Given the description of an element on the screen output the (x, y) to click on. 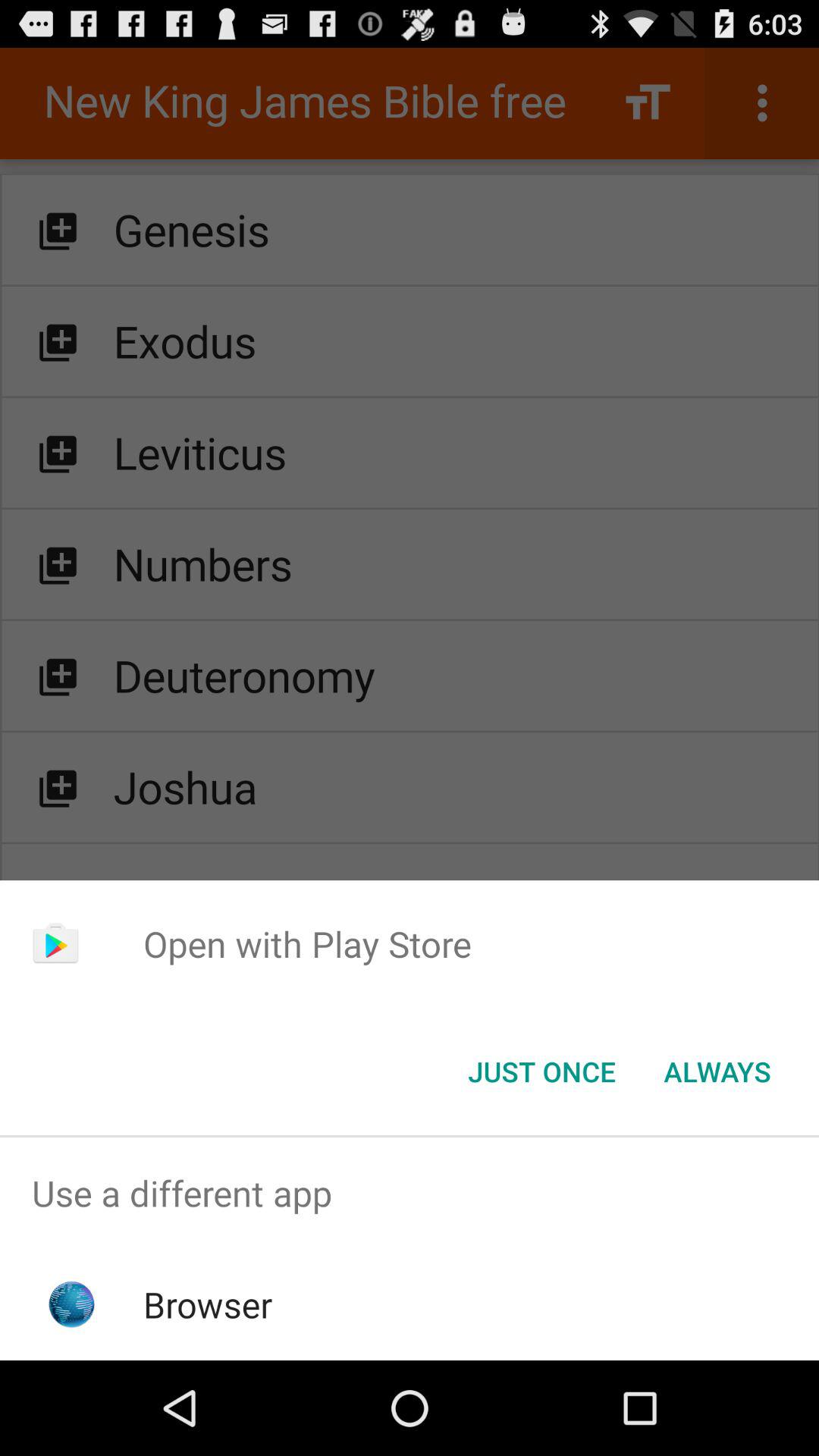
press item above browser item (409, 1192)
